Given the description of an element on the screen output the (x, y) to click on. 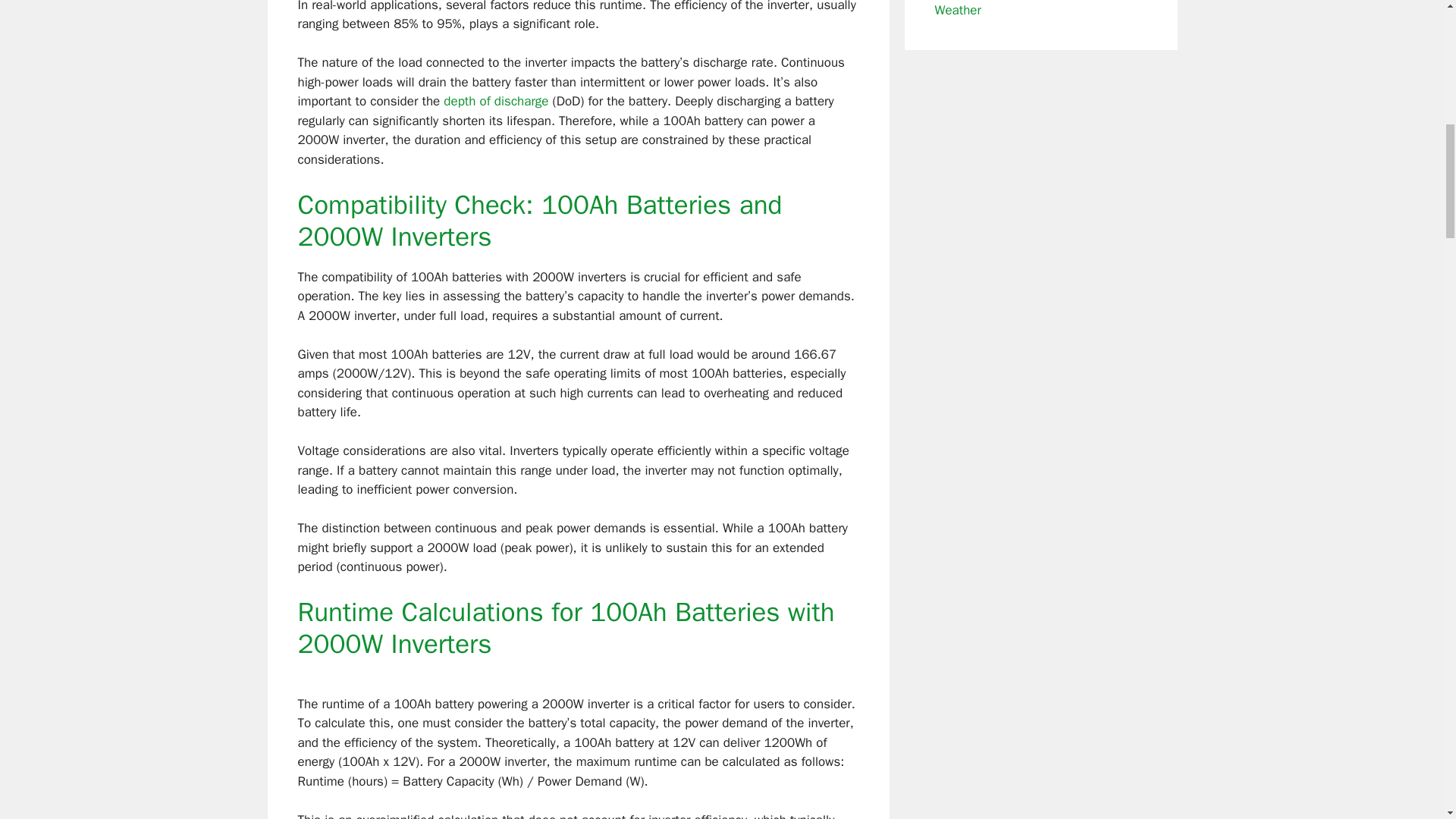
depth of discharge (496, 100)
Scroll back to top (1406, 720)
Weather (956, 9)
